Given the description of an element on the screen output the (x, y) to click on. 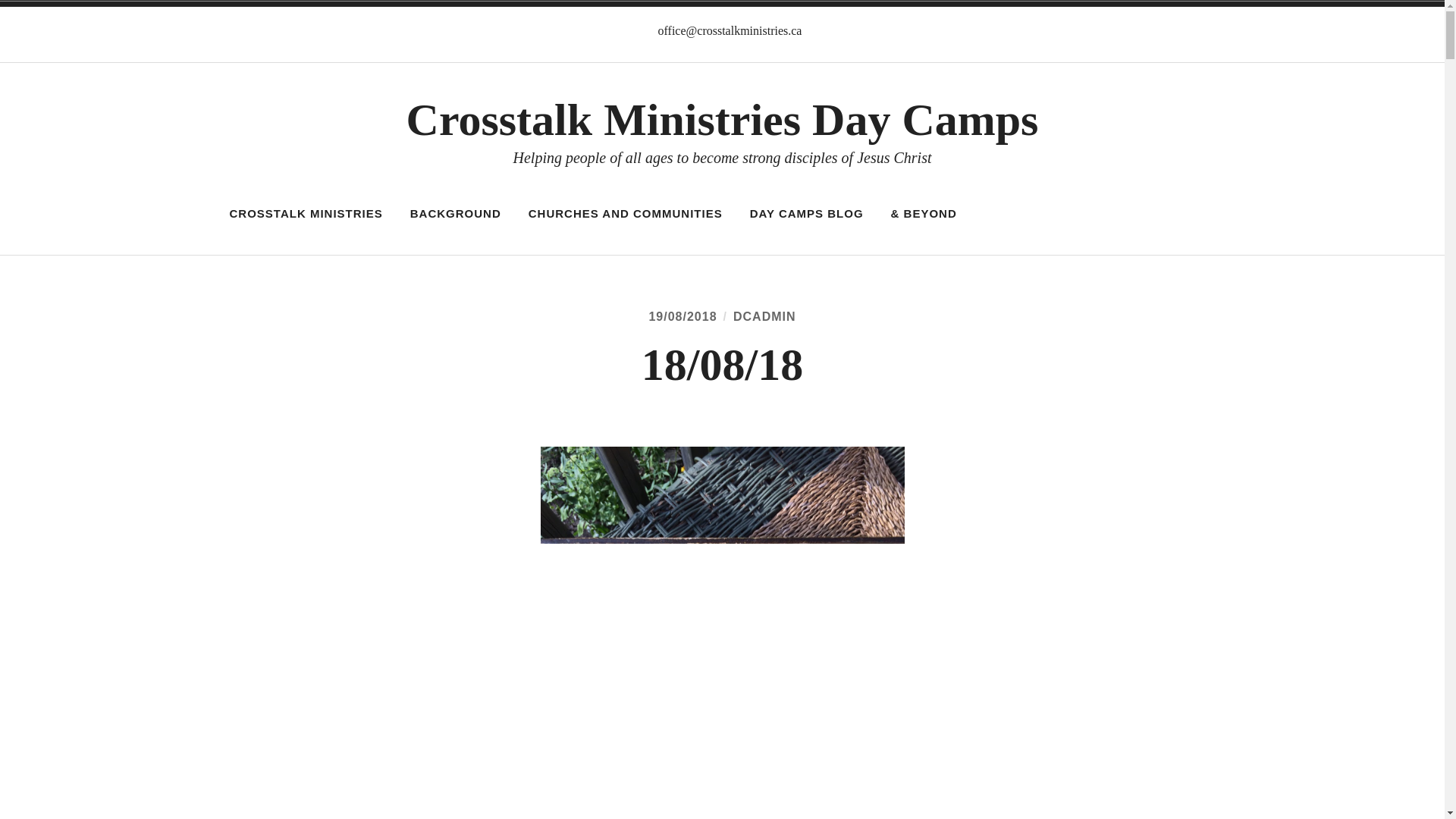
CROSSTALK MINISTRIES (306, 213)
BACKGROUND (455, 213)
Crosstalk Ministries Day Camps (722, 119)
DCADMIN (764, 316)
E-mail (649, 30)
CHURCHES AND COMMUNITIES (624, 213)
Search (30, 13)
DAY CAMPS BLOG (806, 213)
